Given the description of an element on the screen output the (x, y) to click on. 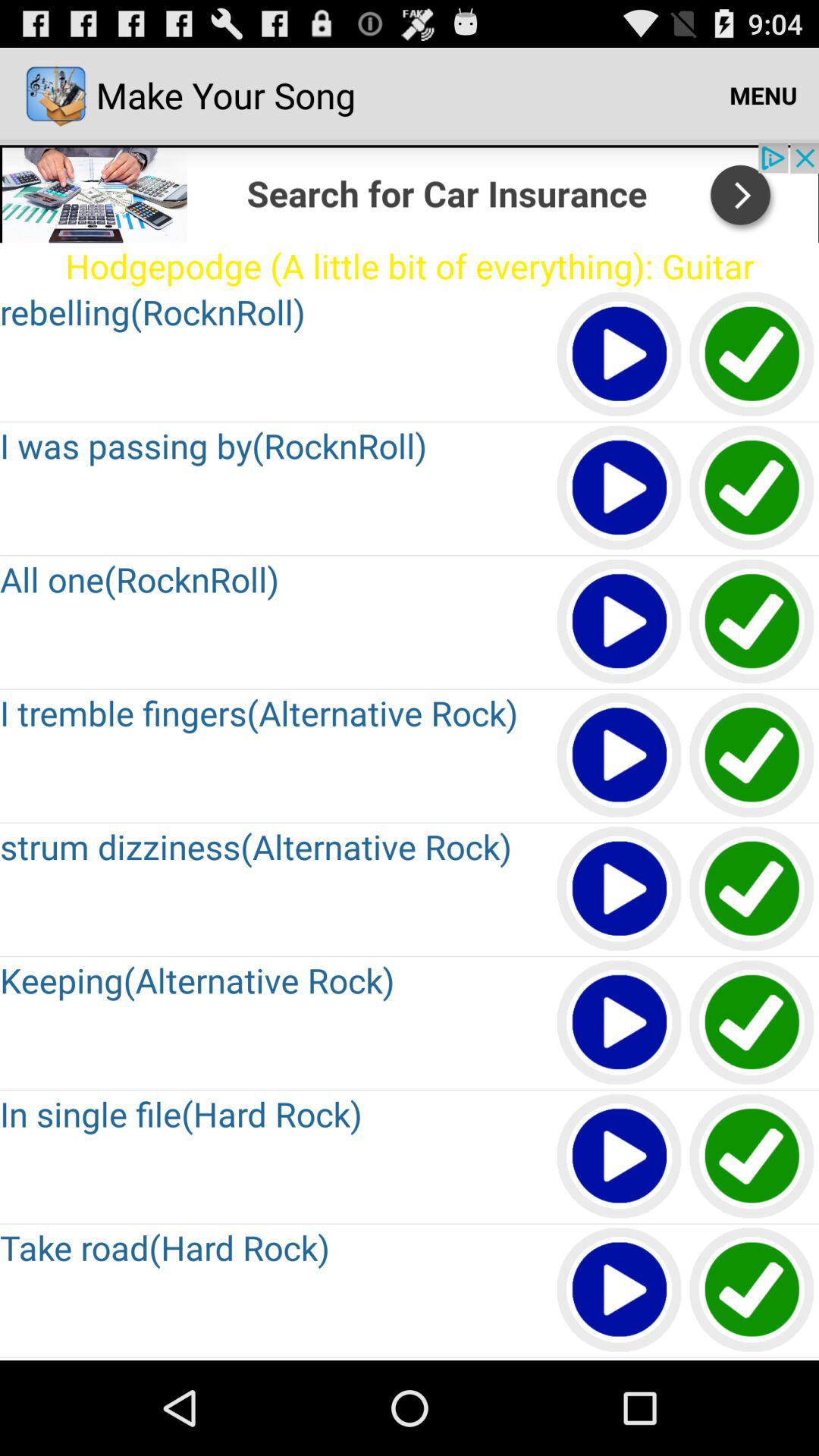
play (619, 755)
